Given the description of an element on the screen output the (x, y) to click on. 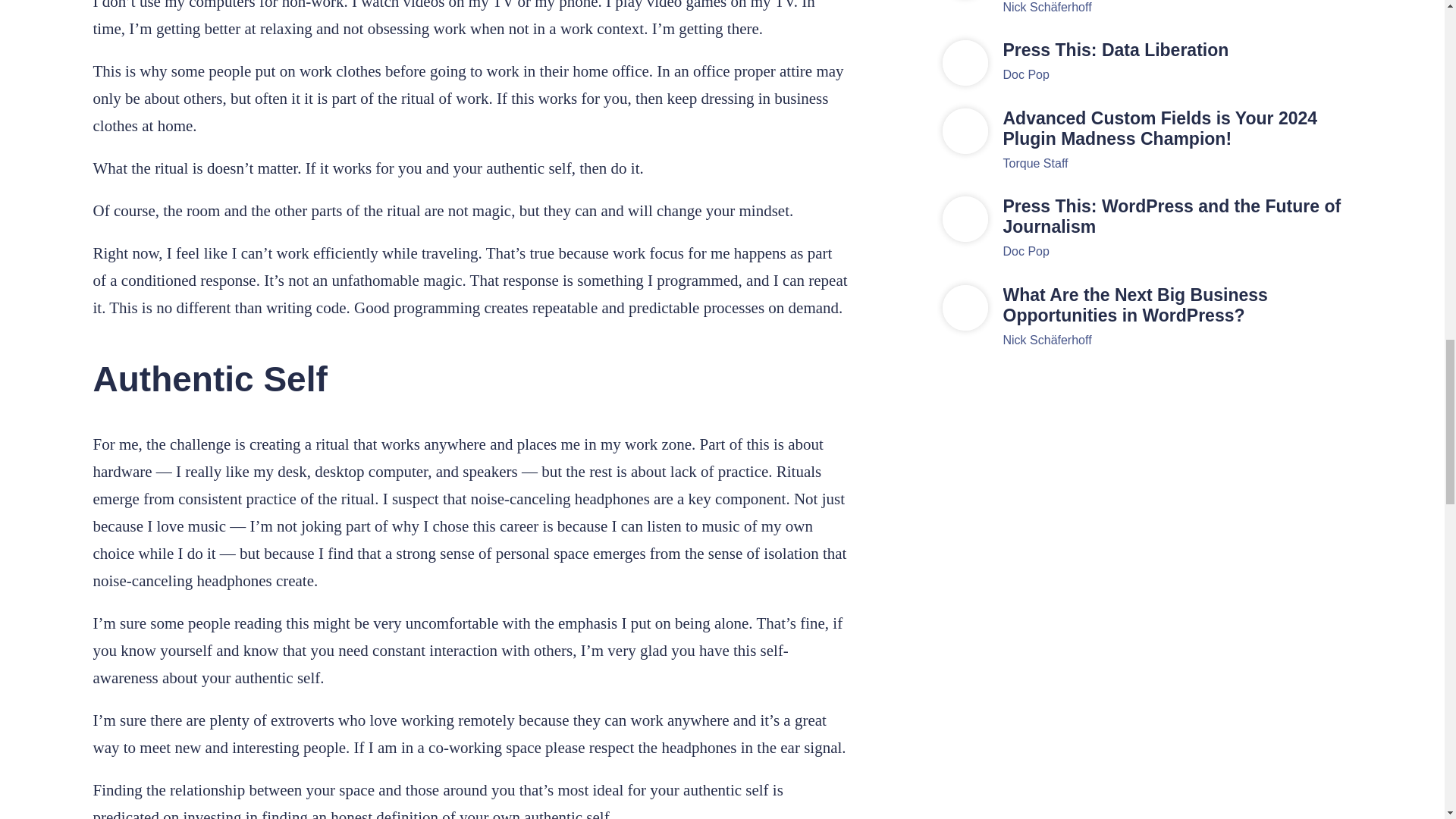
Press This: Data Liberation (1177, 50)
Doc Pop (1025, 74)
